Given the description of an element on the screen output the (x, y) to click on. 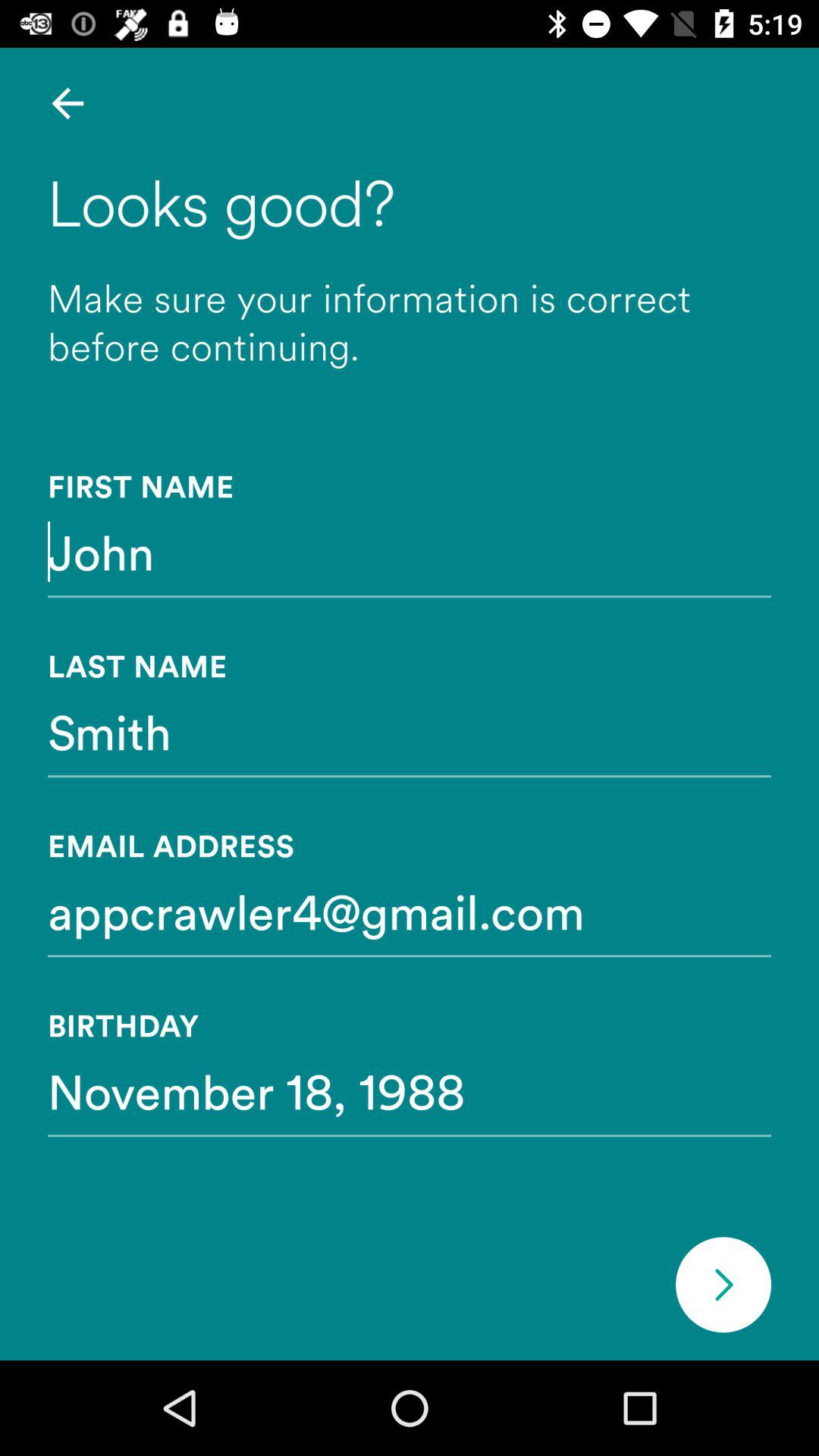
turn on icon above the last name item (409, 551)
